Given the description of an element on the screen output the (x, y) to click on. 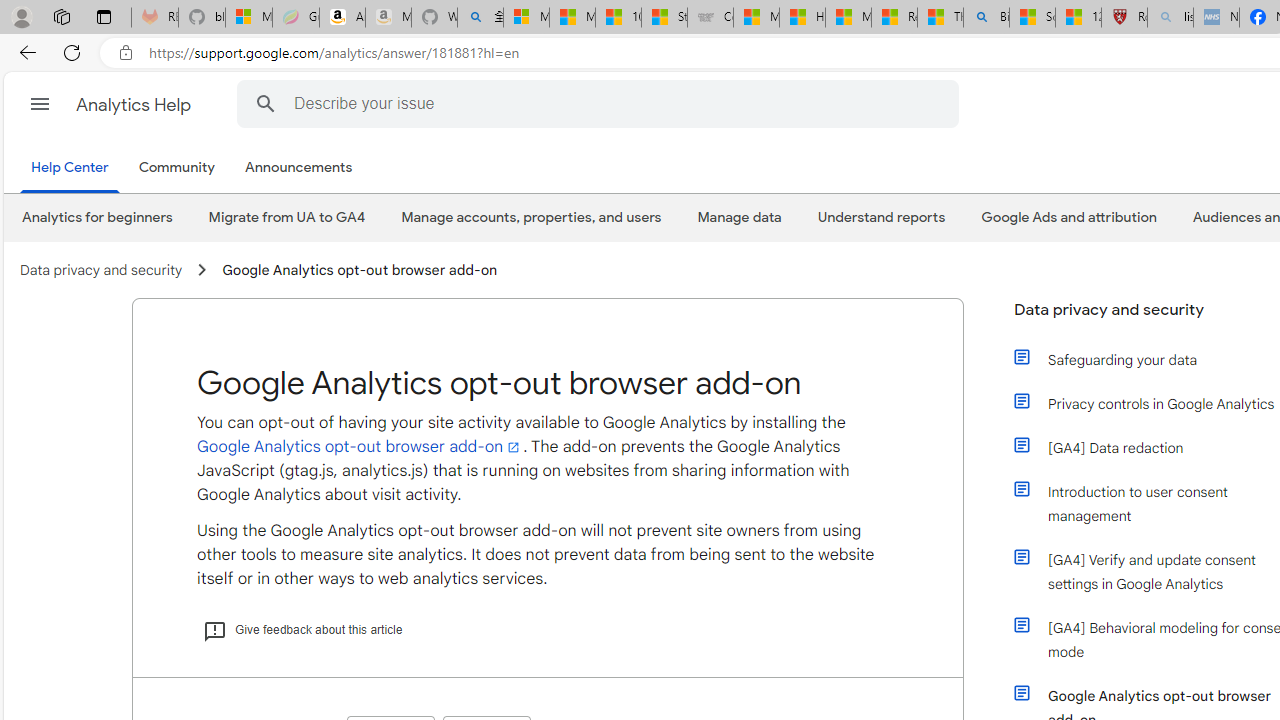
Announcements (303, 168)
Data privacy and security (101, 269)
12 Popular Science Lies that Must be Corrected (1078, 17)
Google Ads and attribution (1068, 217)
Analytics for beginners (96, 217)
Stocks - MSN (664, 17)
Robert H. Shmerling, MD - Harvard Health (1124, 17)
Manage accounts, properties, and users (530, 217)
Main menu (39, 103)
Migrate from UA to GA4 (286, 217)
